Given the description of an element on the screen output the (x, y) to click on. 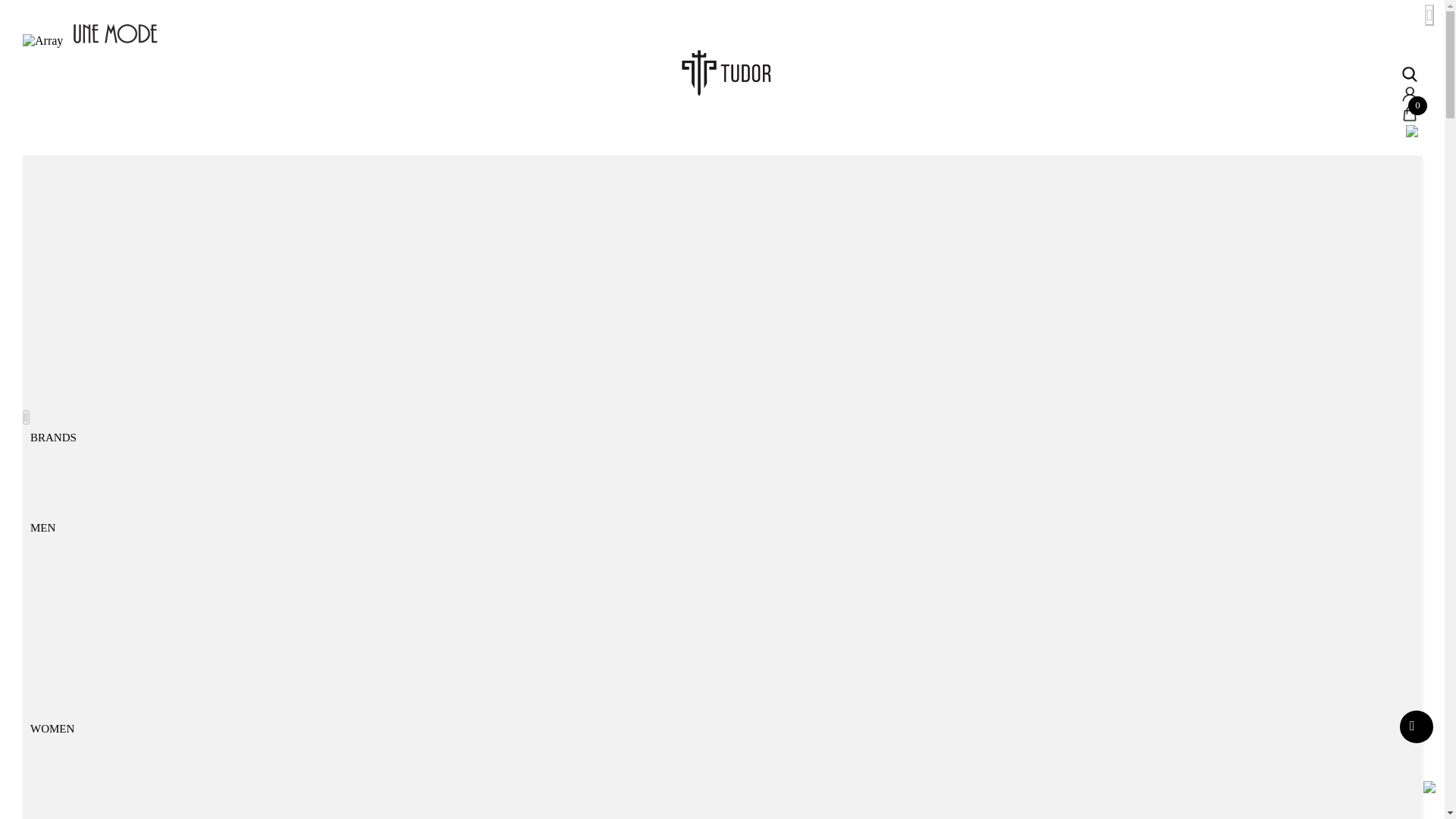
MEN (42, 527)
WOMEN (52, 728)
0 (1409, 115)
BRANDS (53, 437)
